Given the description of an element on the screen output the (x, y) to click on. 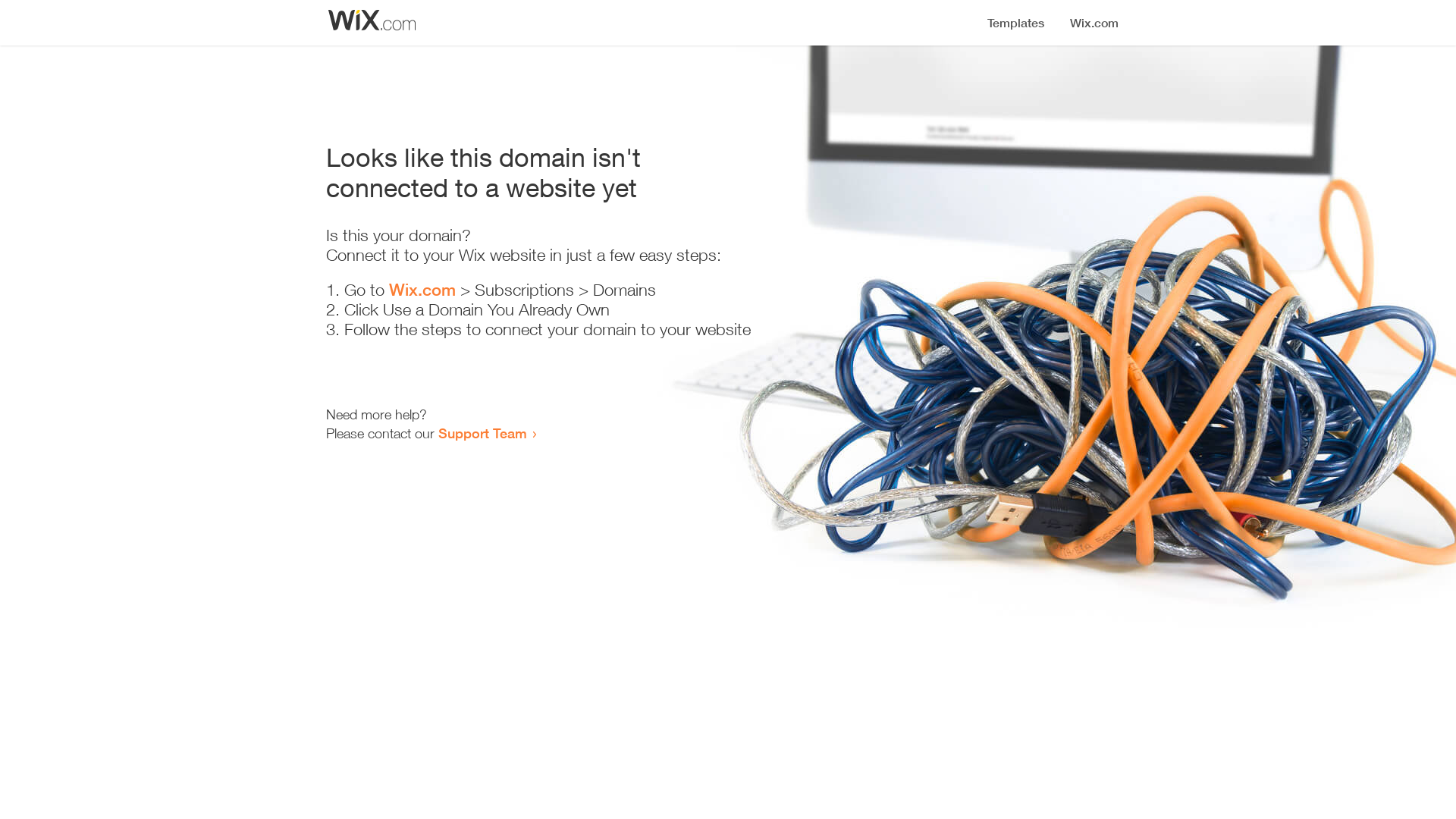
Support Team Element type: text (482, 432)
Wix.com Element type: text (422, 289)
